Given the description of an element on the screen output the (x, y) to click on. 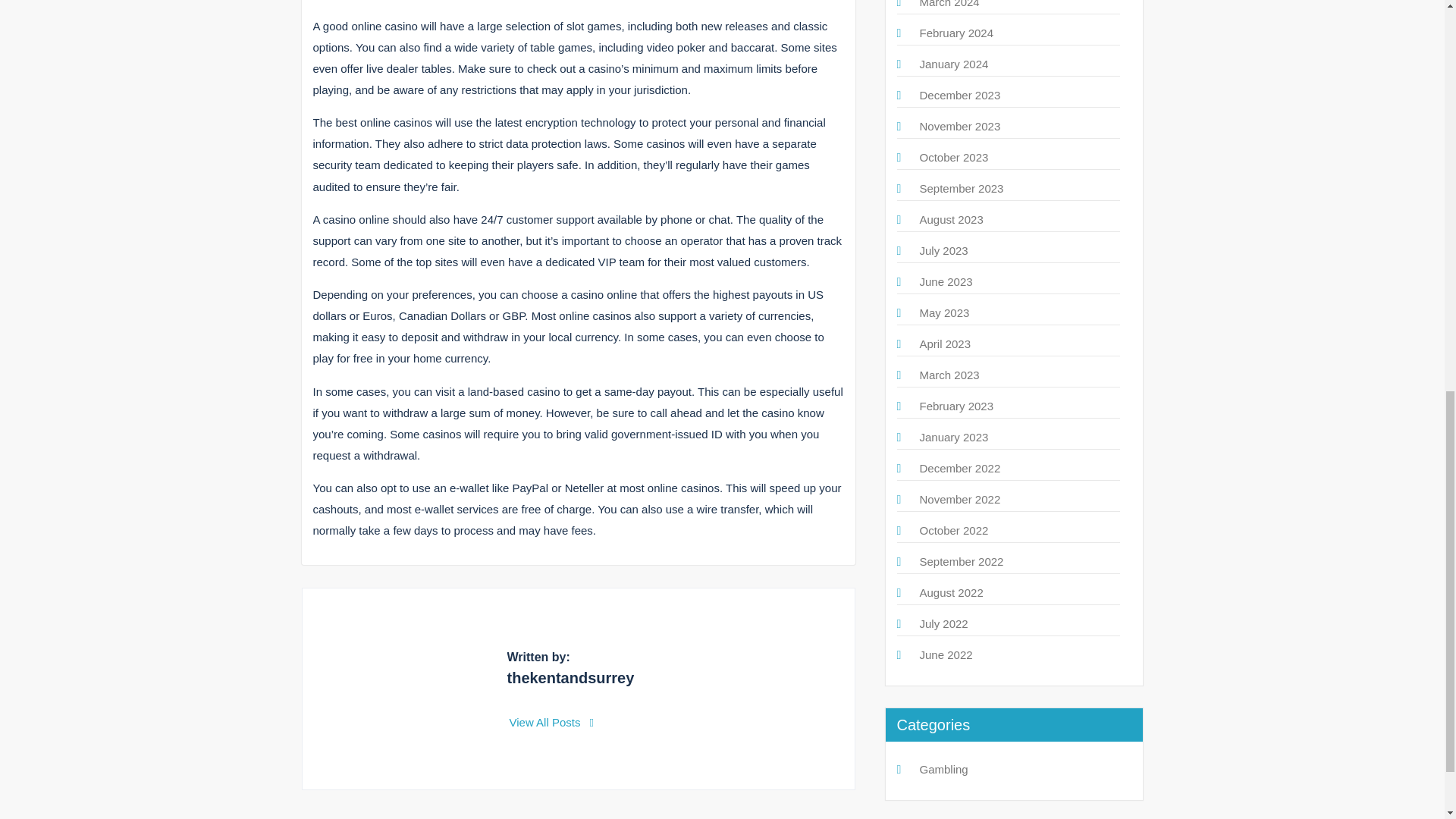
January 2024 (953, 63)
Gambling (943, 768)
February 2024 (955, 32)
June 2022 (945, 654)
April 2023 (944, 343)
March 2023 (948, 374)
August 2023 (950, 219)
May 2023 (943, 312)
View All Posts (551, 721)
December 2022 (959, 468)
March 2024 (948, 4)
October 2022 (953, 530)
December 2023 (959, 94)
September 2022 (960, 561)
August 2022 (950, 592)
